Given the description of an element on the screen output the (x, y) to click on. 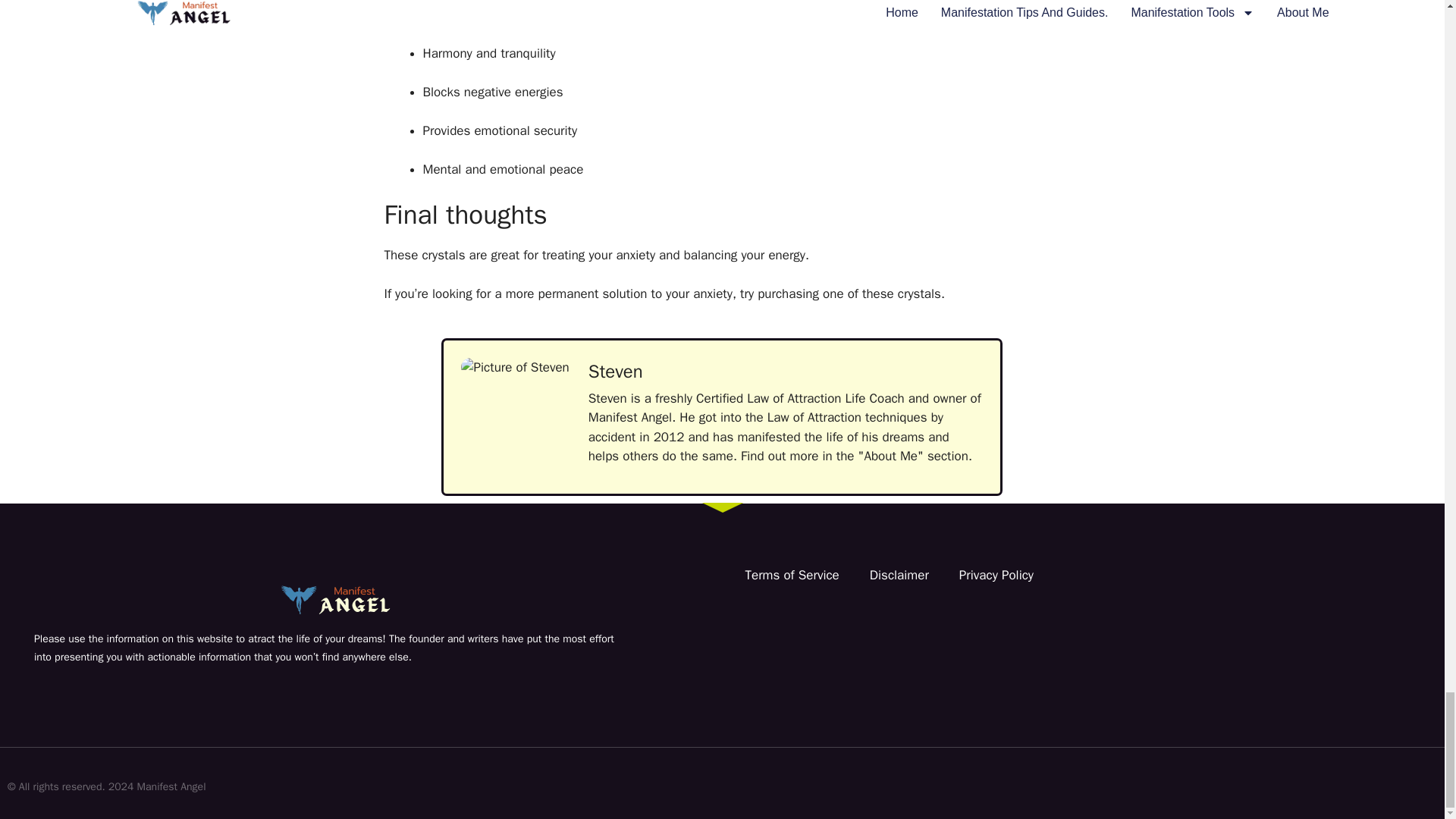
Privacy Policy (995, 574)
Disclaimer (898, 574)
Terms of Service (791, 574)
